Given the description of an element on the screen output the (x, y) to click on. 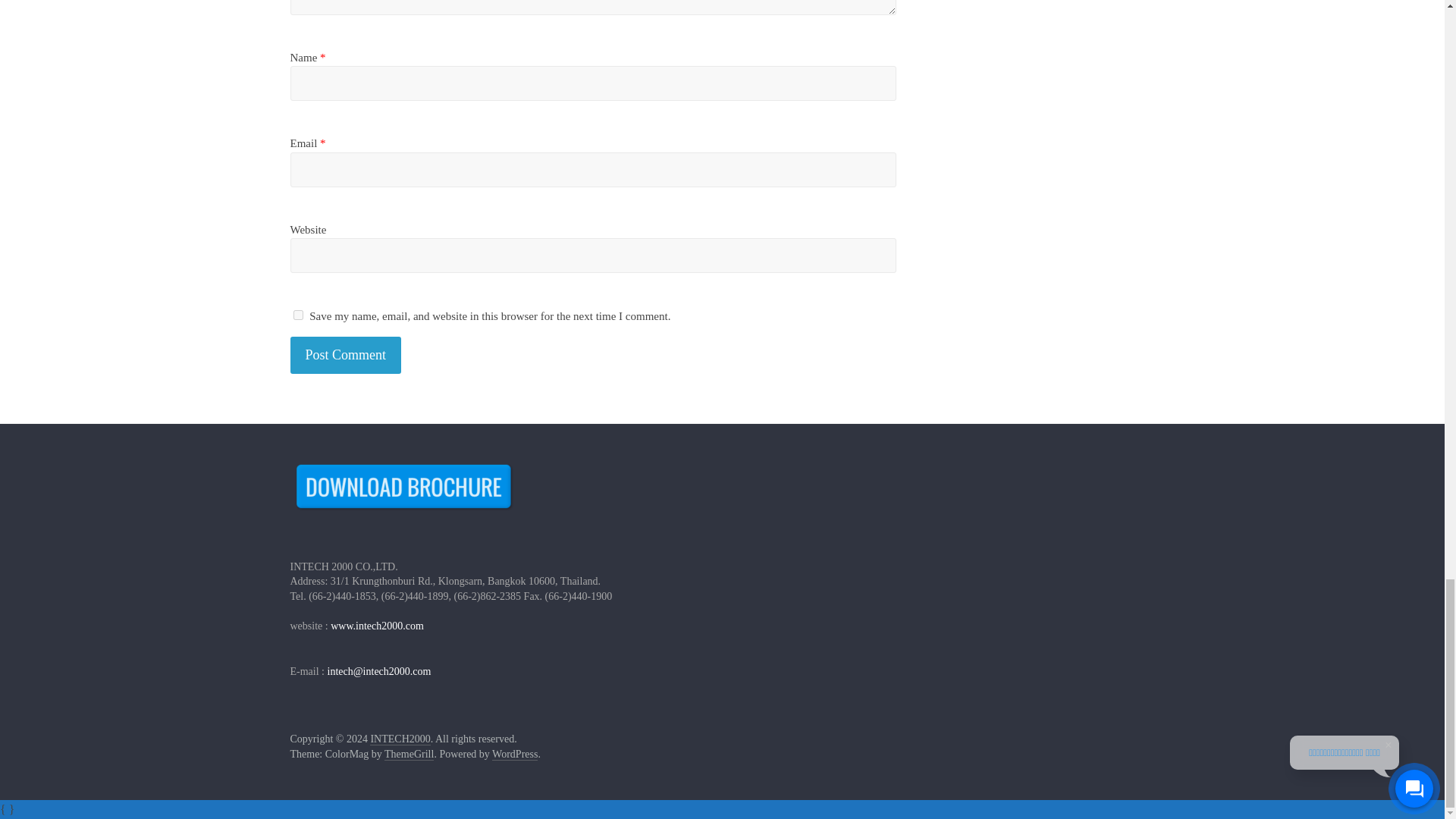
yes (297, 315)
Post Comment (345, 354)
ThemeGrill (408, 754)
WordPress (514, 754)
INTECH2000 (399, 739)
